Given the description of an element on the screen output the (x, y) to click on. 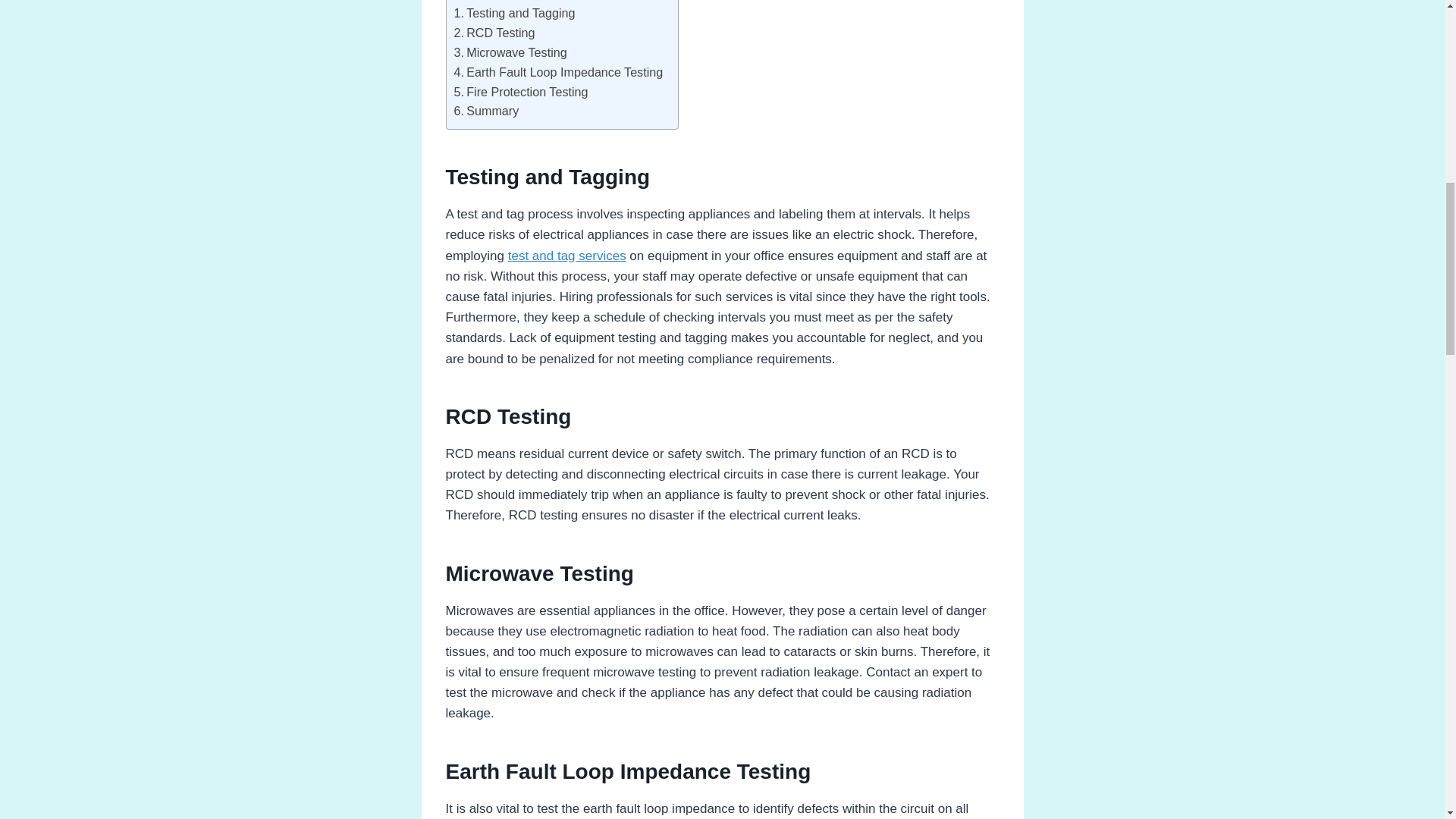
Fire Protection Testing (520, 92)
Summary (485, 111)
Testing and Tagging (513, 13)
RCD Testing (493, 33)
Fire Protection Testing (520, 92)
Microwave Testing (509, 53)
Testing and Tagging (513, 13)
Summary (485, 111)
test and tag services (567, 255)
Earth Fault Loop Impedance Testing (557, 72)
